Given the description of an element on the screen output the (x, y) to click on. 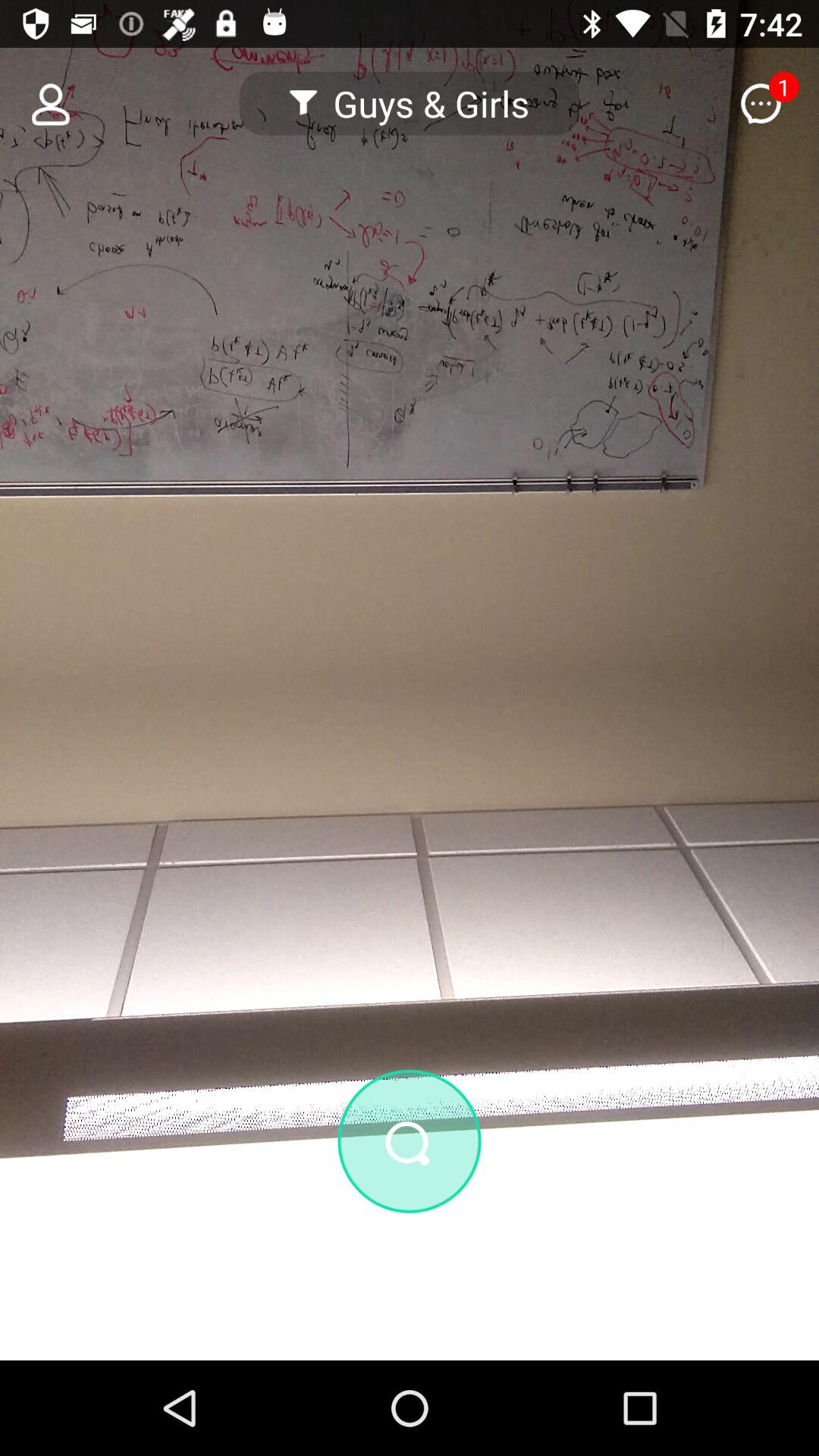
zoom (409, 1222)
